Given the description of an element on the screen output the (x, y) to click on. 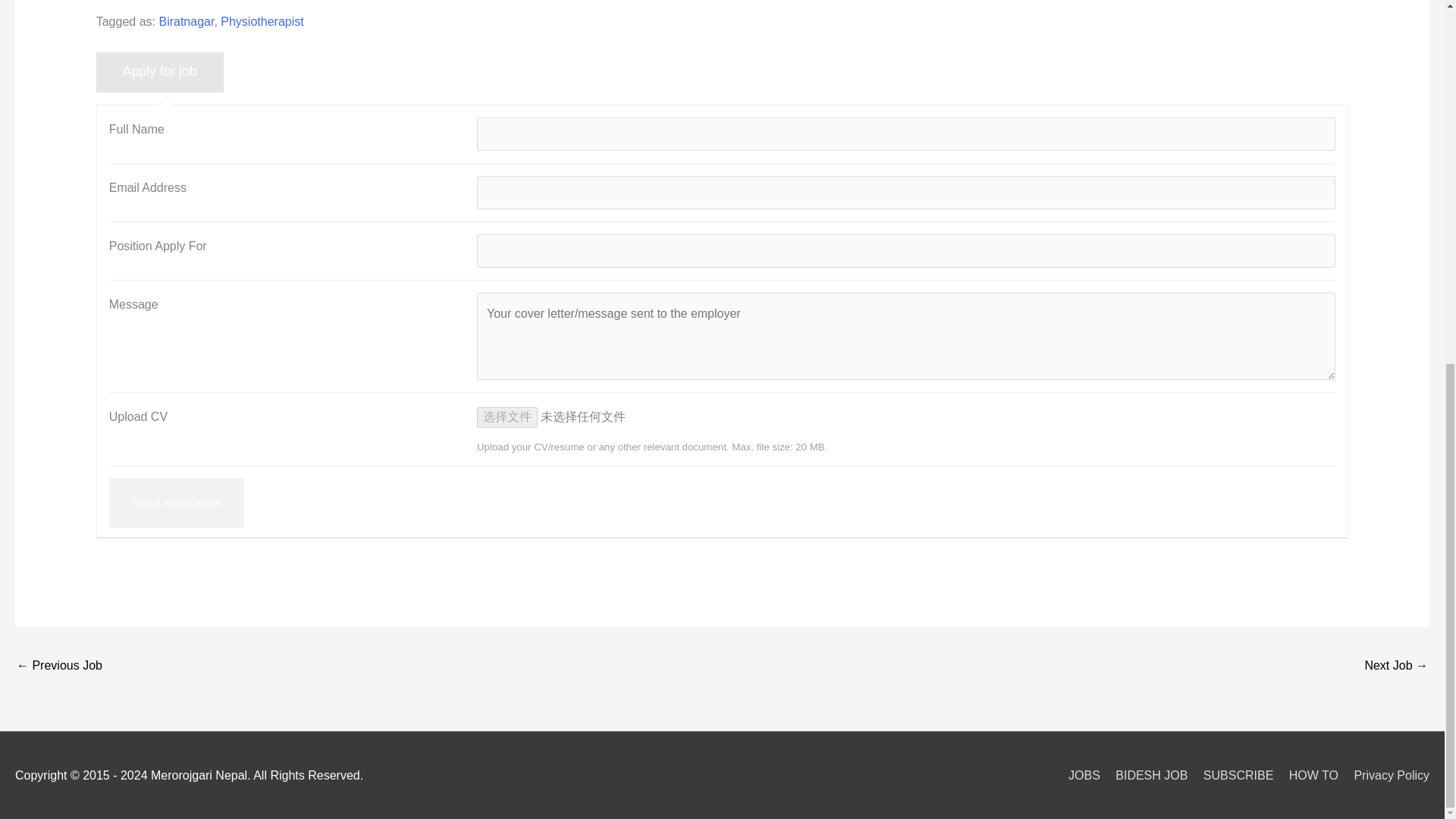
Privacy Policy (1384, 775)
Apply for job (160, 72)
JOBS (1078, 775)
HOW TO (1307, 775)
Physiotherapist (261, 21)
SUBSCRIBE (1231, 775)
Send application (176, 503)
BIDESH JOB (1145, 775)
Send application (176, 503)
Biratnagar (186, 21)
Staff Nurse (1396, 666)
